Given the description of an element on the screen output the (x, y) to click on. 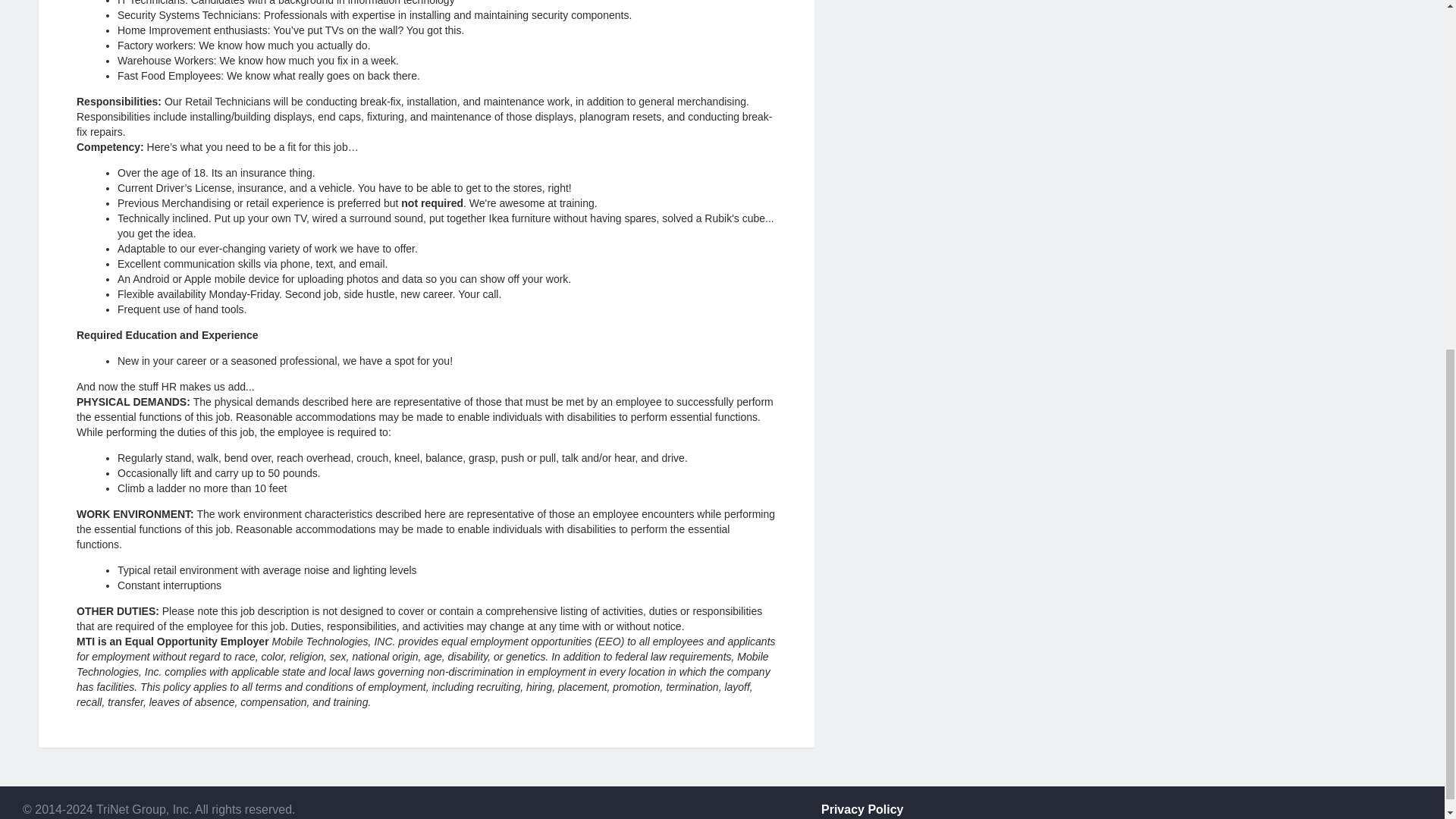
Privacy Policy (862, 809)
